Given the description of an element on the screen output the (x, y) to click on. 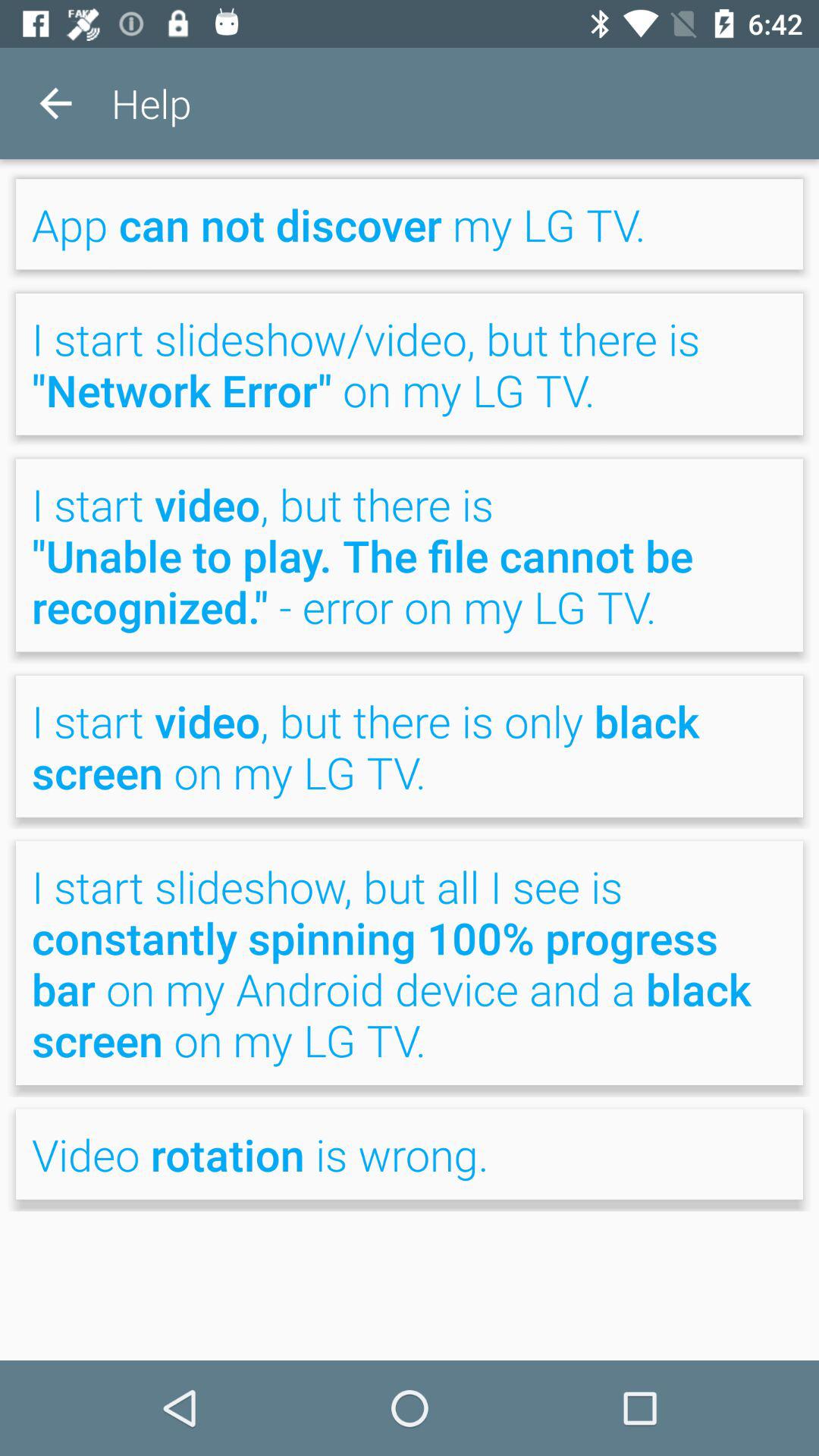
select item to the left of the help (55, 103)
